Given the description of an element on the screen output the (x, y) to click on. 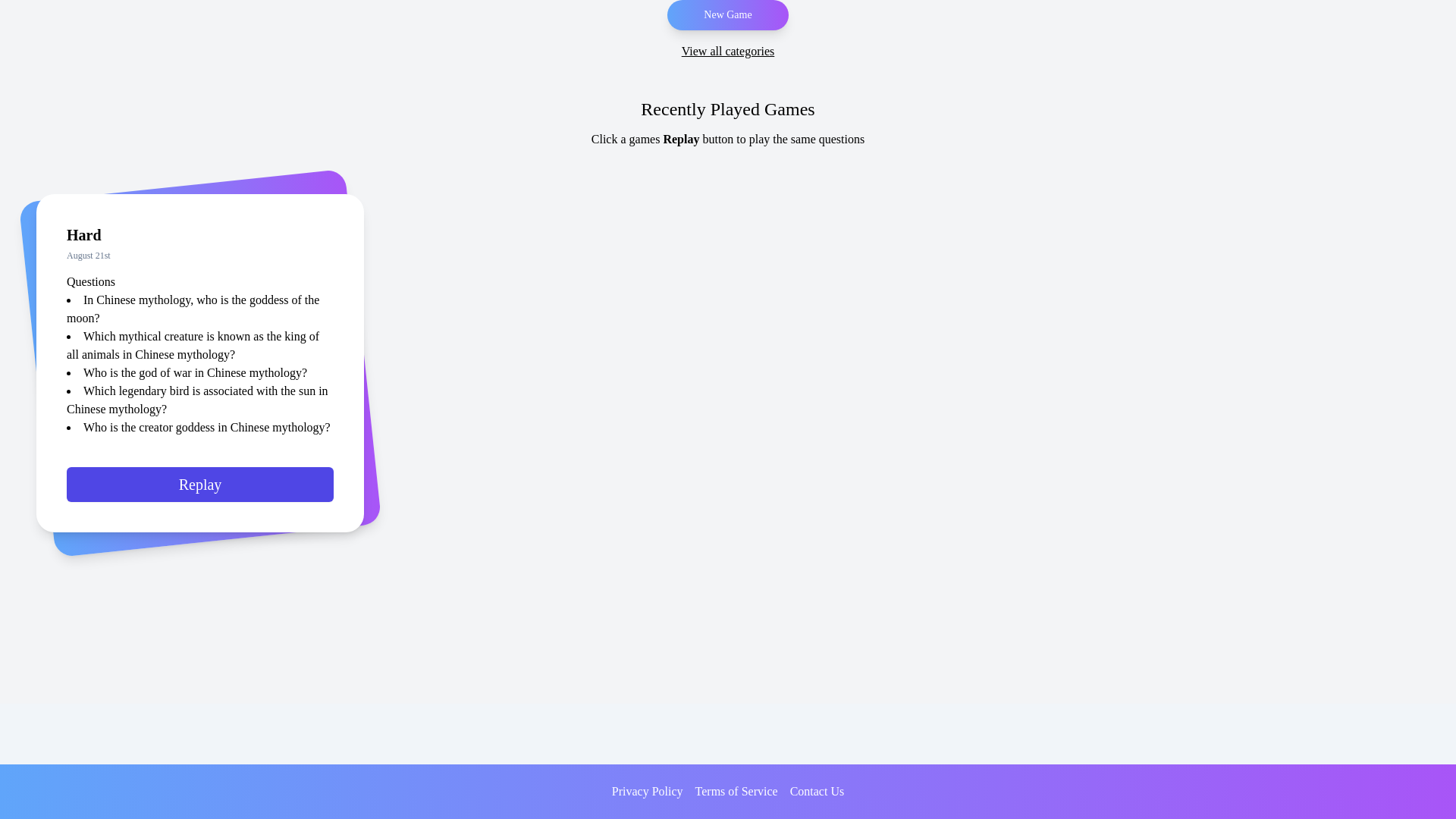
Terms of Service (736, 791)
Replay (199, 493)
Contact Us (817, 791)
New Game (726, 15)
Privacy Policy (646, 791)
View all categories (727, 51)
